Given the description of an element on the screen output the (x, y) to click on. 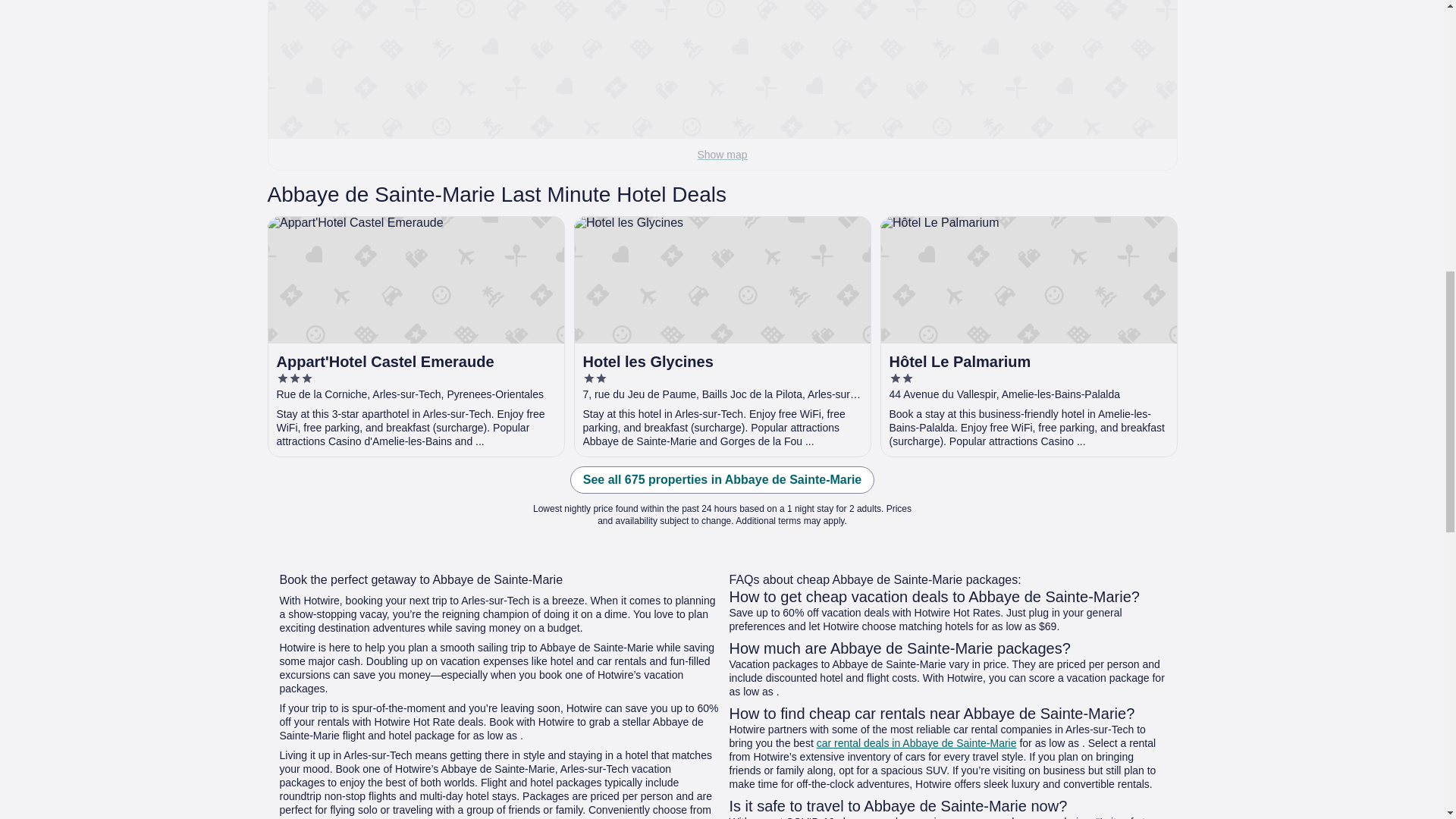
Appart'Hotel Castel Emeraude (415, 336)
car rental deals in Abbaye de Sainte-Marie (916, 743)
See all 675 properties in Abbaye de Sainte-Marie (722, 479)
Hotel les Glycines (721, 336)
